Given the description of an element on the screen output the (x, y) to click on. 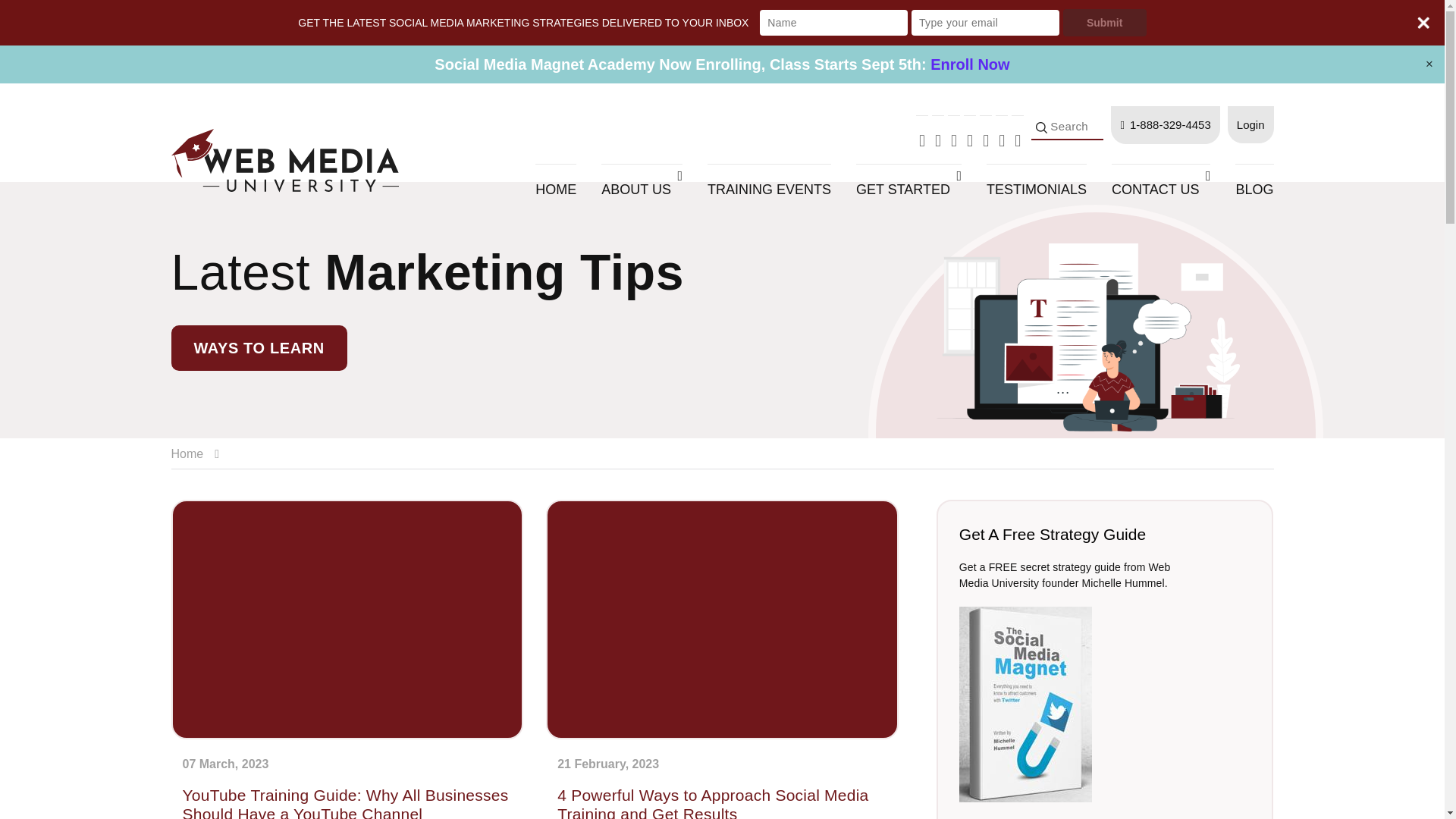
1-888-329-4453 (1165, 125)
ABOUT US (641, 189)
Home (199, 453)
Login (1250, 124)
GET STARTED (908, 189)
CONTACT US (1160, 189)
TESTIMONIALS (1036, 189)
TRAINING EVENTS (769, 189)
